Given the description of an element on the screen output the (x, y) to click on. 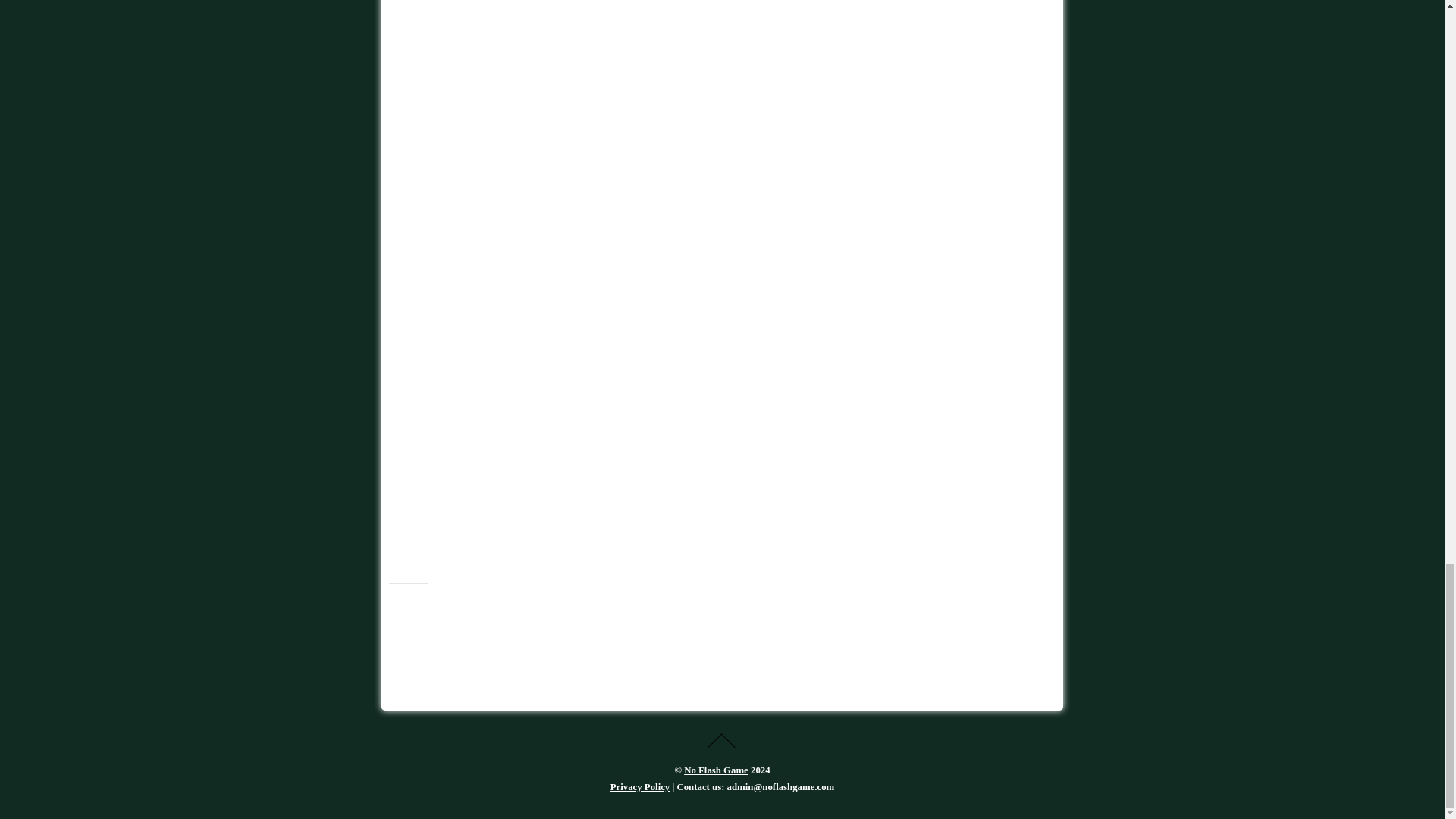
LinkedIn (507, 613)
Twitter (405, 613)
Pinterest (472, 613)
puzzle game (534, 43)
No Flash Game (716, 769)
